Given the description of an element on the screen output the (x, y) to click on. 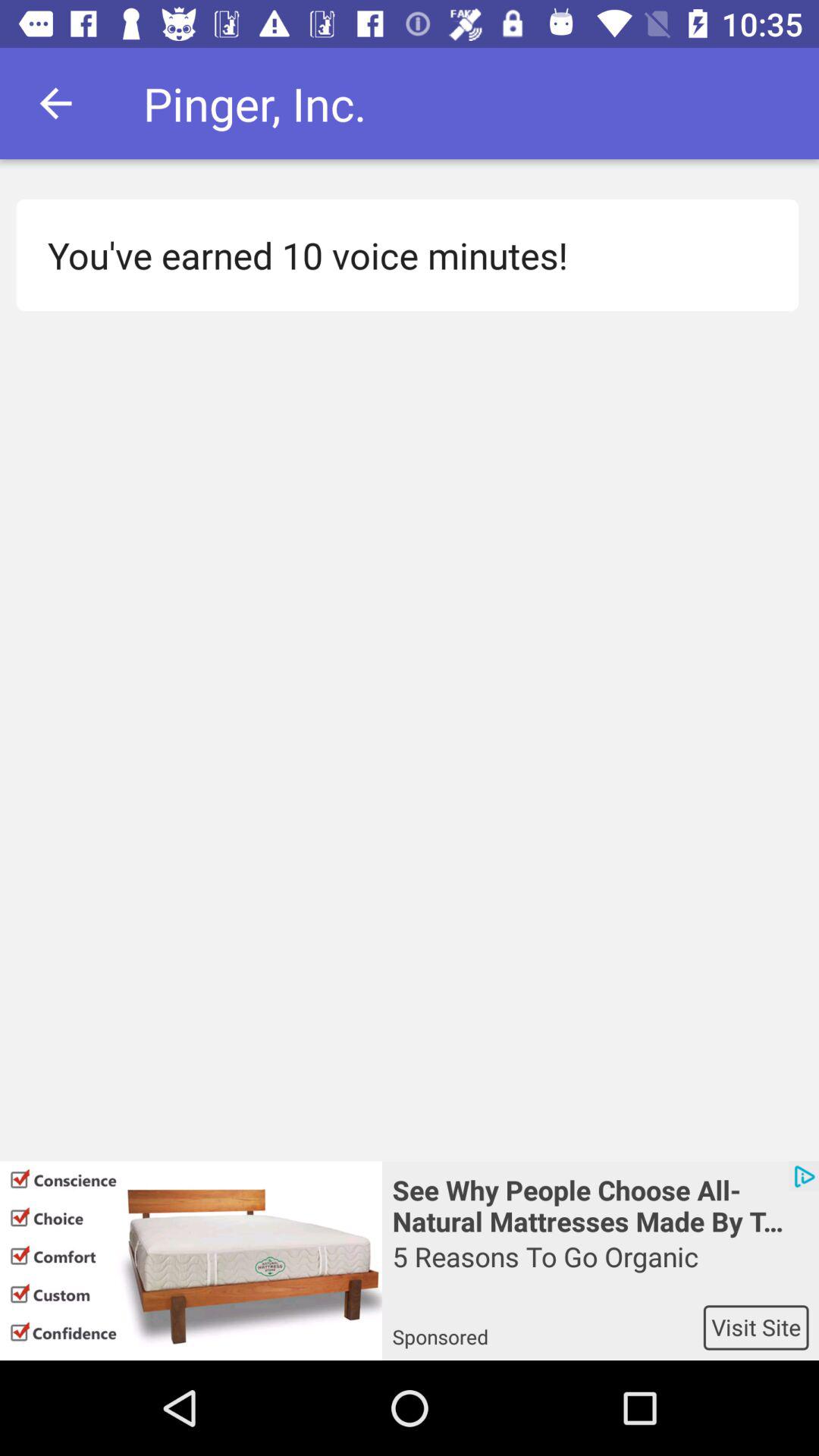
flip to you ve earned (399, 255)
